Given the description of an element on the screen output the (x, y) to click on. 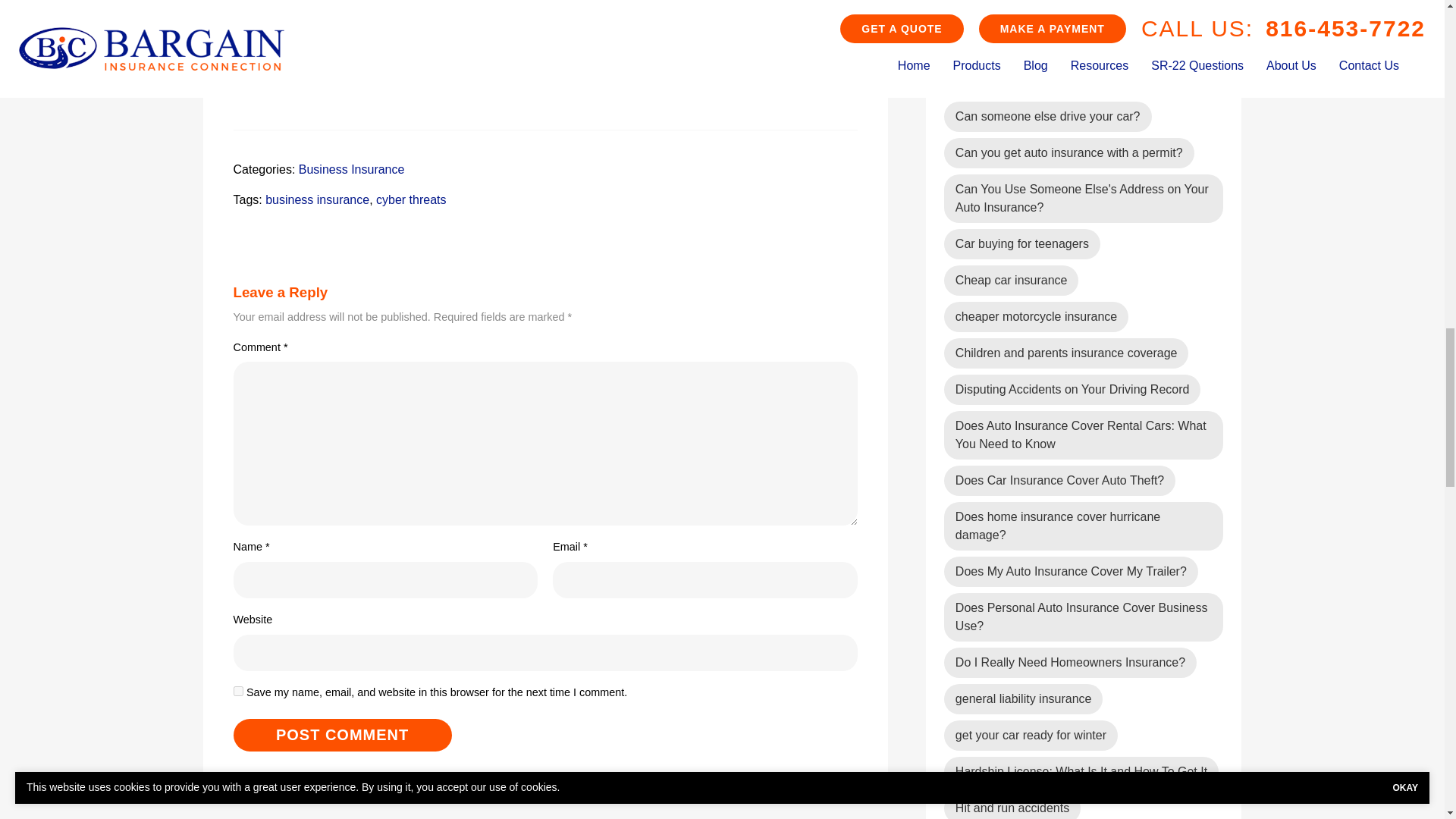
Post Comment (341, 735)
yes (237, 691)
